Given the description of an element on the screen output the (x, y) to click on. 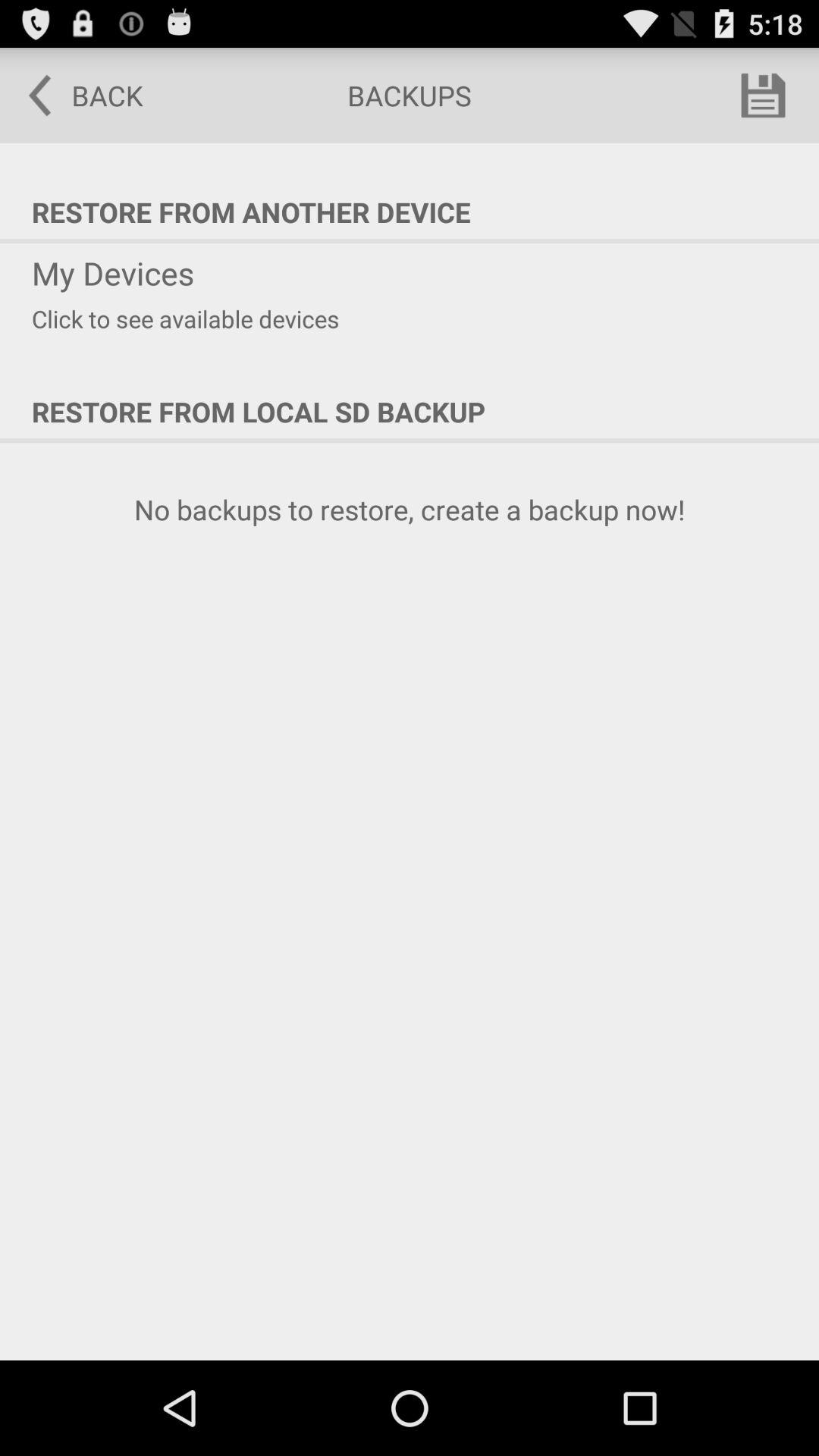
launch item next to backups item (75, 95)
